Given the description of an element on the screen output the (x, y) to click on. 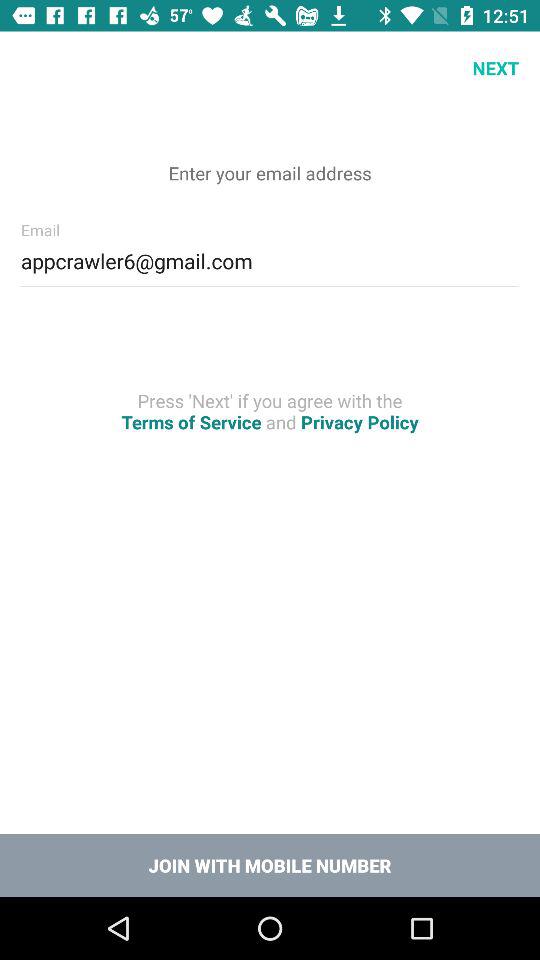
launch item above appcrawler6@gmail.com item (36, 68)
